Given the description of an element on the screen output the (x, y) to click on. 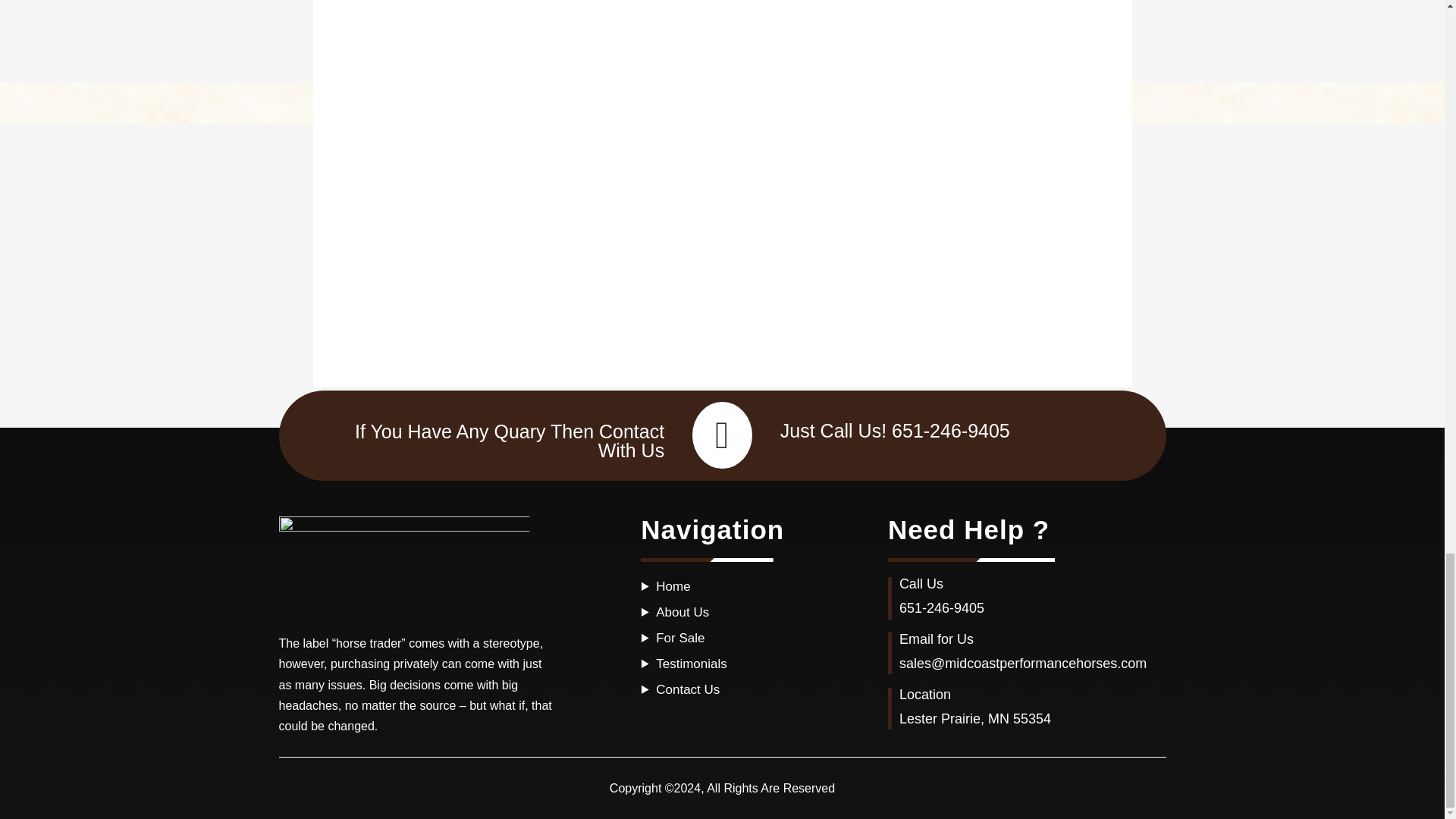
651-246-9405 (950, 430)
Contact Us (687, 689)
white logo (404, 567)
For Sale (680, 637)
About Us (682, 612)
Testimonials (691, 663)
Home (673, 586)
651-246-9405 (941, 607)
